Given the description of an element on the screen output the (x, y) to click on. 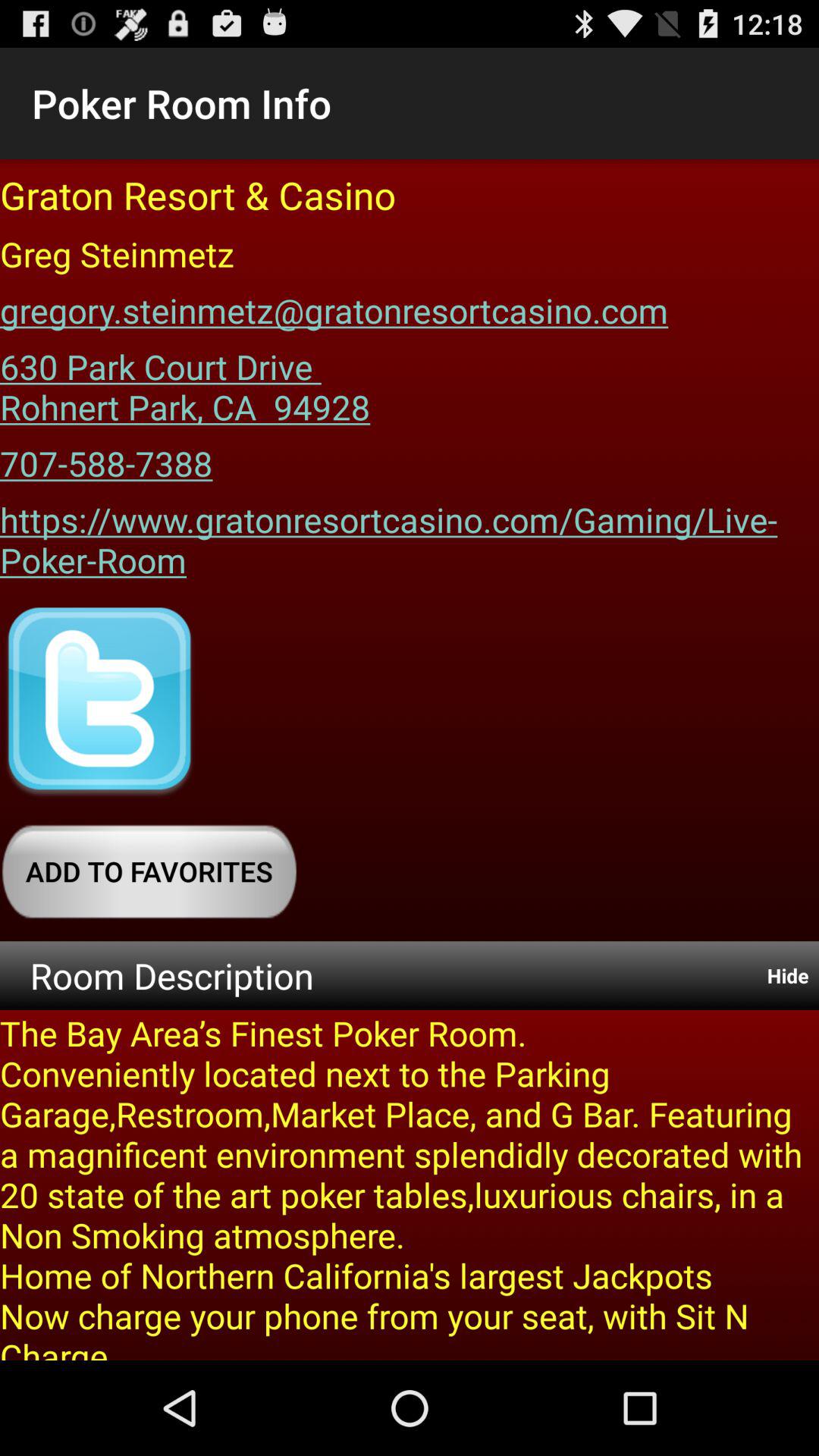
swipe until 630 park court app (185, 381)
